Given the description of an element on the screen output the (x, y) to click on. 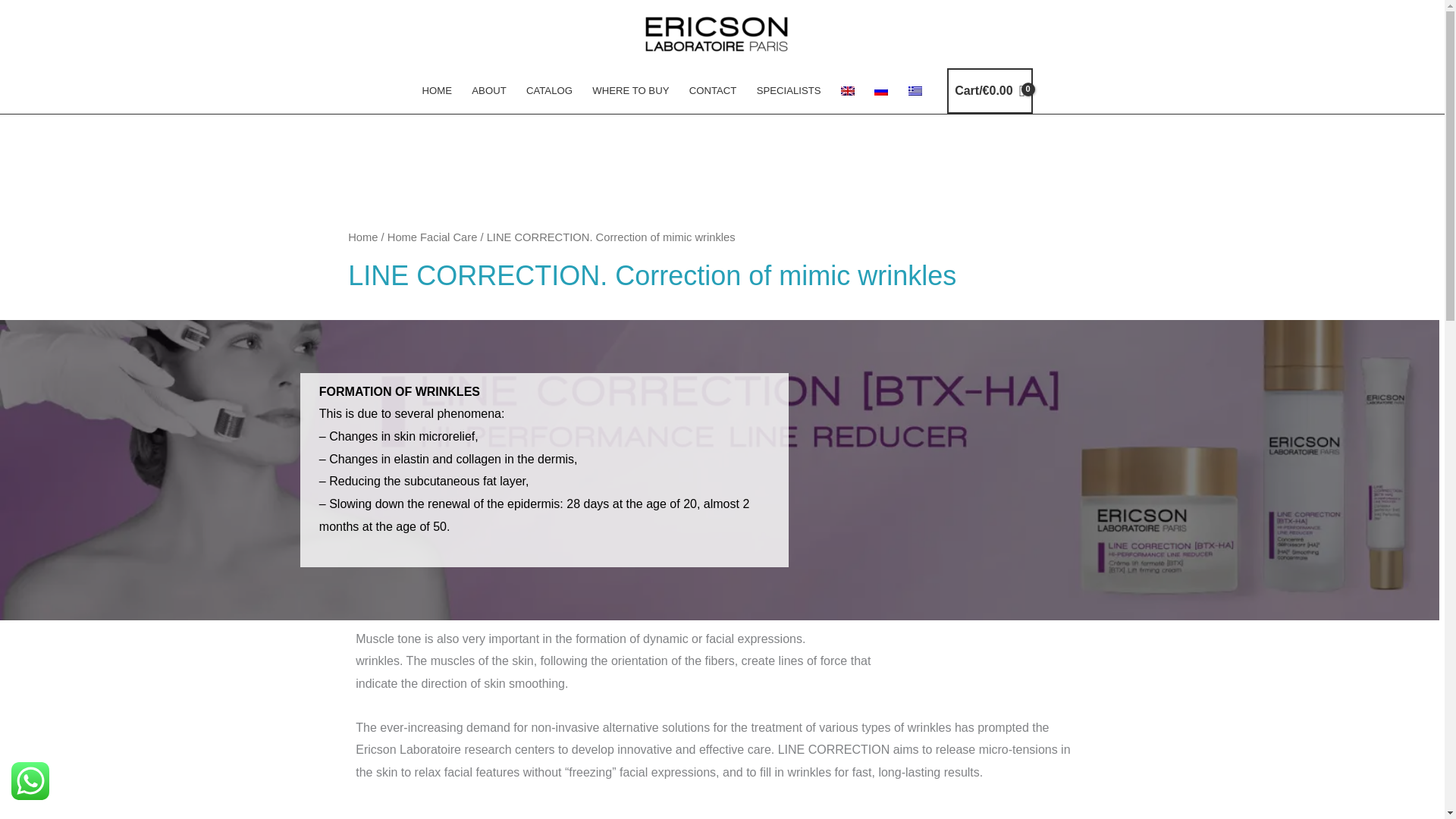
HOME (436, 90)
CATALOG (549, 90)
ABOUT (488, 90)
